Given the description of an element on the screen output the (x, y) to click on. 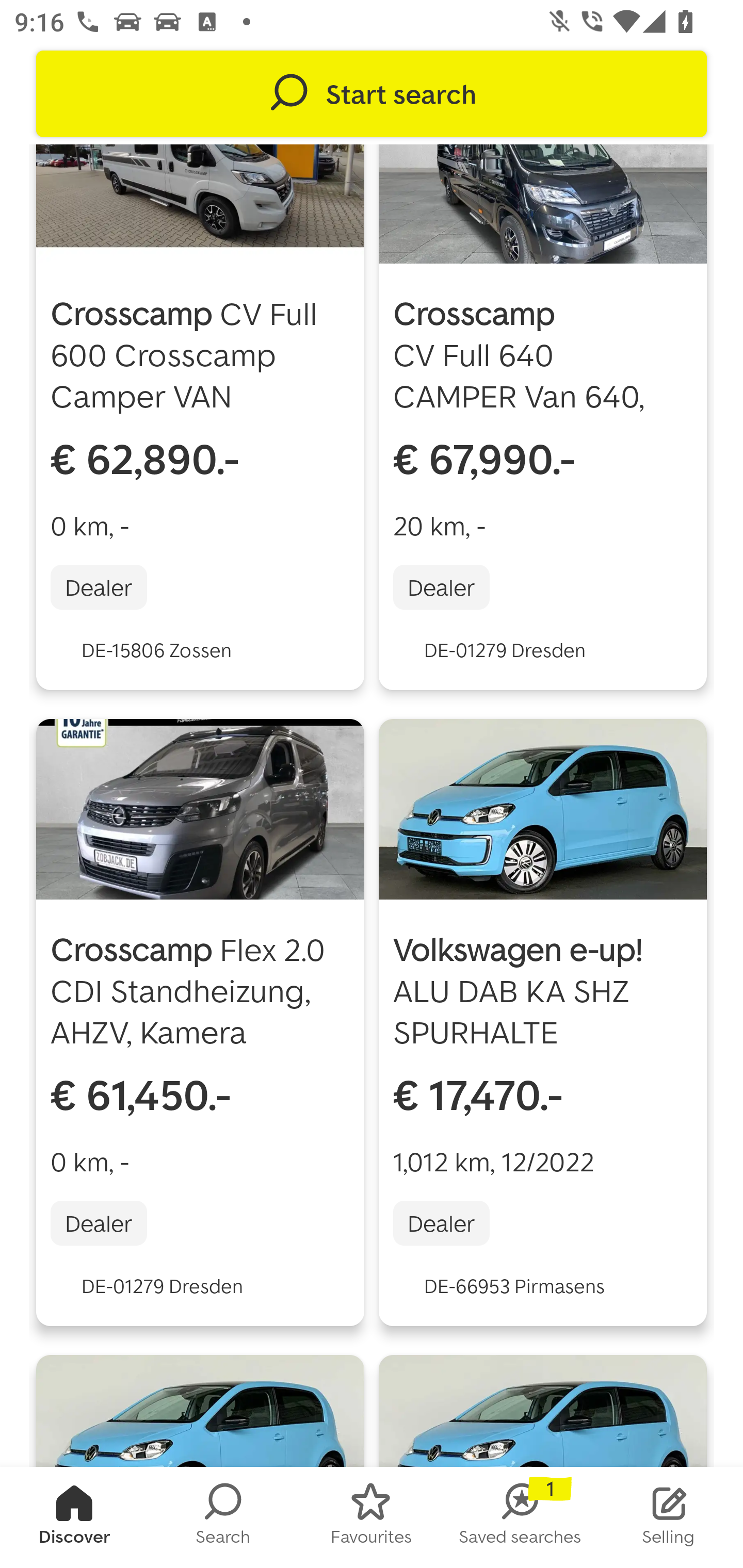
Start search (371, 93)
HOMESCREEN Discover (74, 1517)
SEARCH Search (222, 1517)
FAVORITES Favourites (371, 1517)
SAVED_SEARCHES Saved searches 1 (519, 1517)
STOCK_LIST Selling (668, 1517)
